Given the description of an element on the screen output the (x, y) to click on. 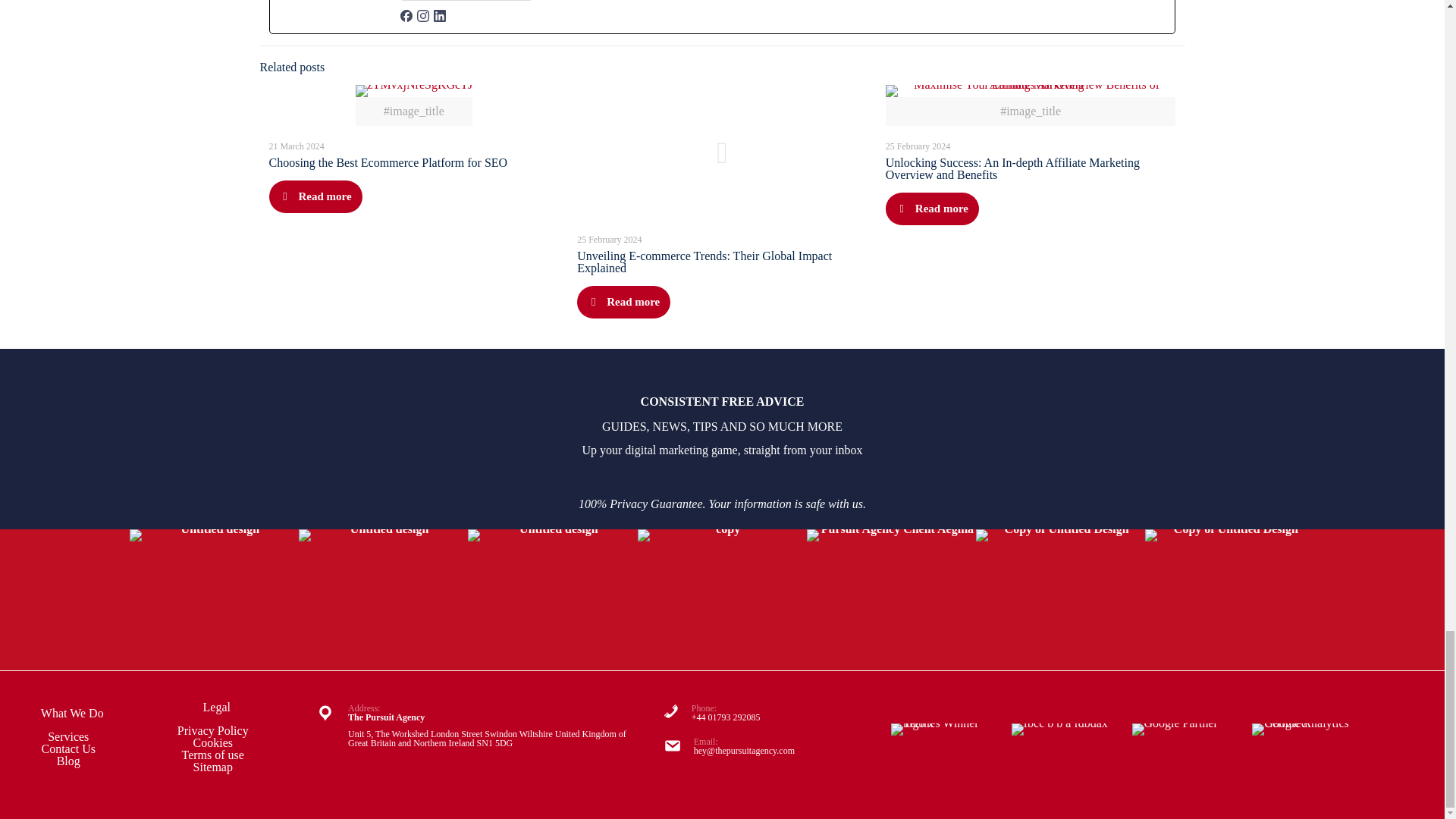
Pursuit agency client aegina the pursuit agency (890, 599)
Read more (622, 301)
Unveiling E-commerce Trends: Their Global Impact Explained (703, 261)
Choosing the Best Ecommerce Platform for SEO (386, 162)
Read more (314, 196)
7z0tmvxj7n7r2esgkgctj the pursuit agency (413, 91)
Untitled design 16 the pursuit agency (213, 599)
Untitled design 18 the pursuit agency (552, 599)
Read more (931, 208)
